Given the description of an element on the screen output the (x, y) to click on. 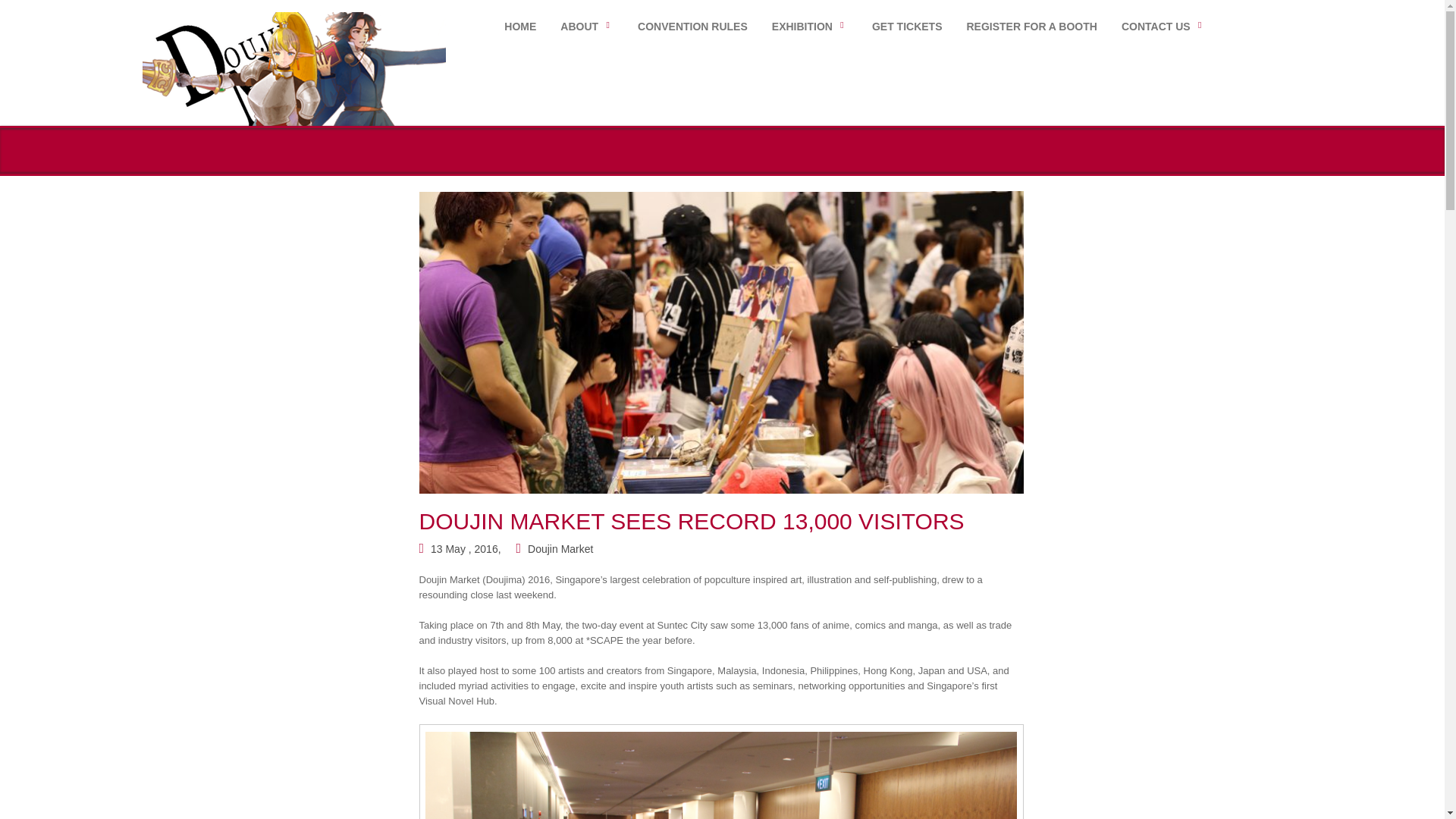
DOUJIN MARKET SEES RECORD 13,000 VISITORS (691, 520)
About (586, 26)
Doujin Market sees record 13,000 visitors (691, 520)
Convention Rules (692, 26)
Weblizar (293, 66)
Home (520, 26)
Contact Us (1163, 26)
HOME (520, 26)
CONTACT US (1163, 26)
GET TICKETS (906, 26)
REGISTER FOR A BOOTH (1031, 26)
EXHIBITION (809, 26)
CONVENTION RULES (692, 26)
13 May , 2016, (465, 548)
Doujin Market (559, 548)
